Given the description of an element on the screen output the (x, y) to click on. 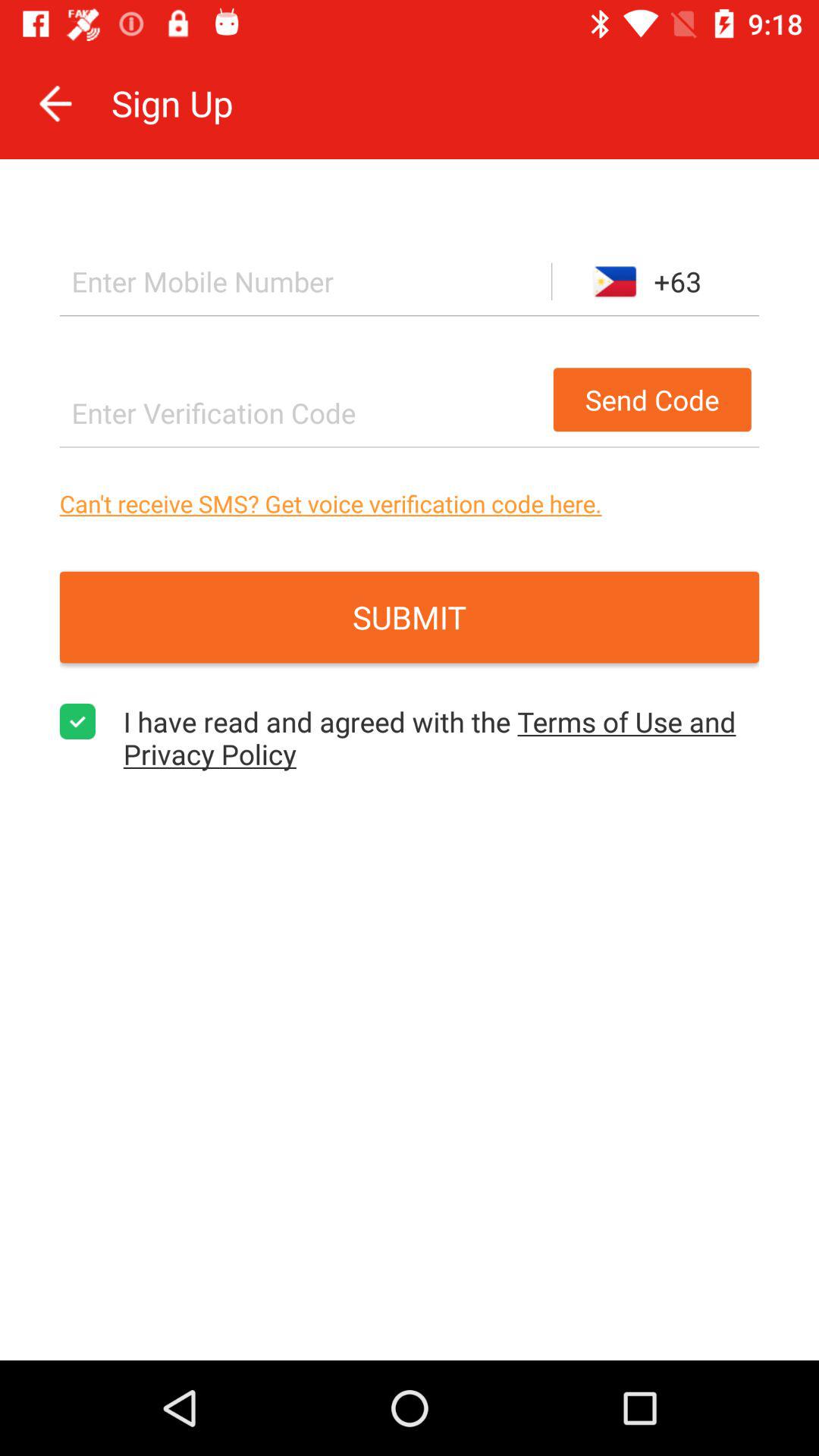
choose the i have read item (441, 737)
